Given the description of an element on the screen output the (x, y) to click on. 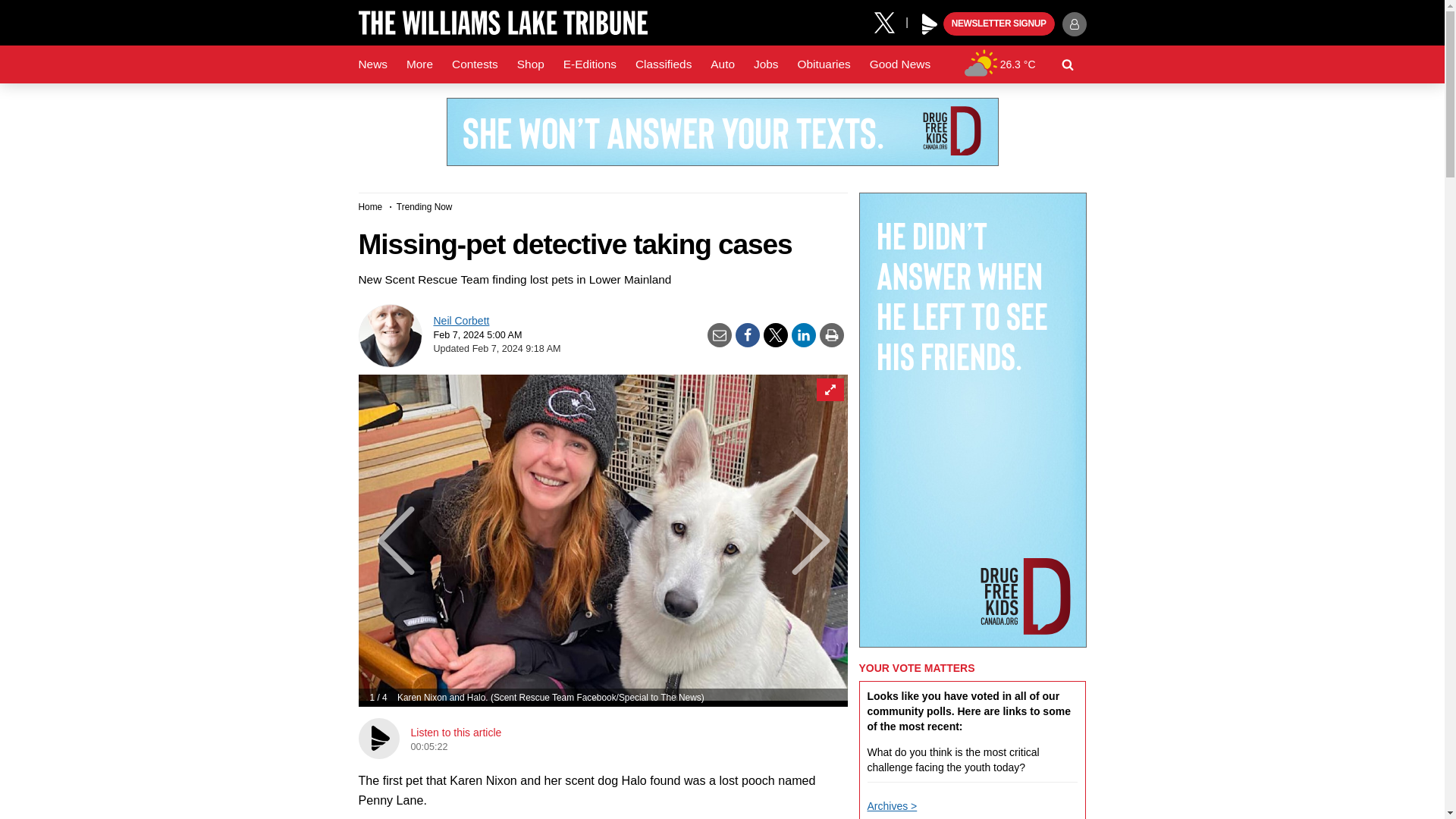
Expand (829, 389)
News (372, 64)
Black Press Media (929, 24)
X (889, 21)
NEWSLETTER SIGNUP (998, 24)
Play (929, 24)
3rd party ad content (721, 131)
